Given the description of an element on the screen output the (x, y) to click on. 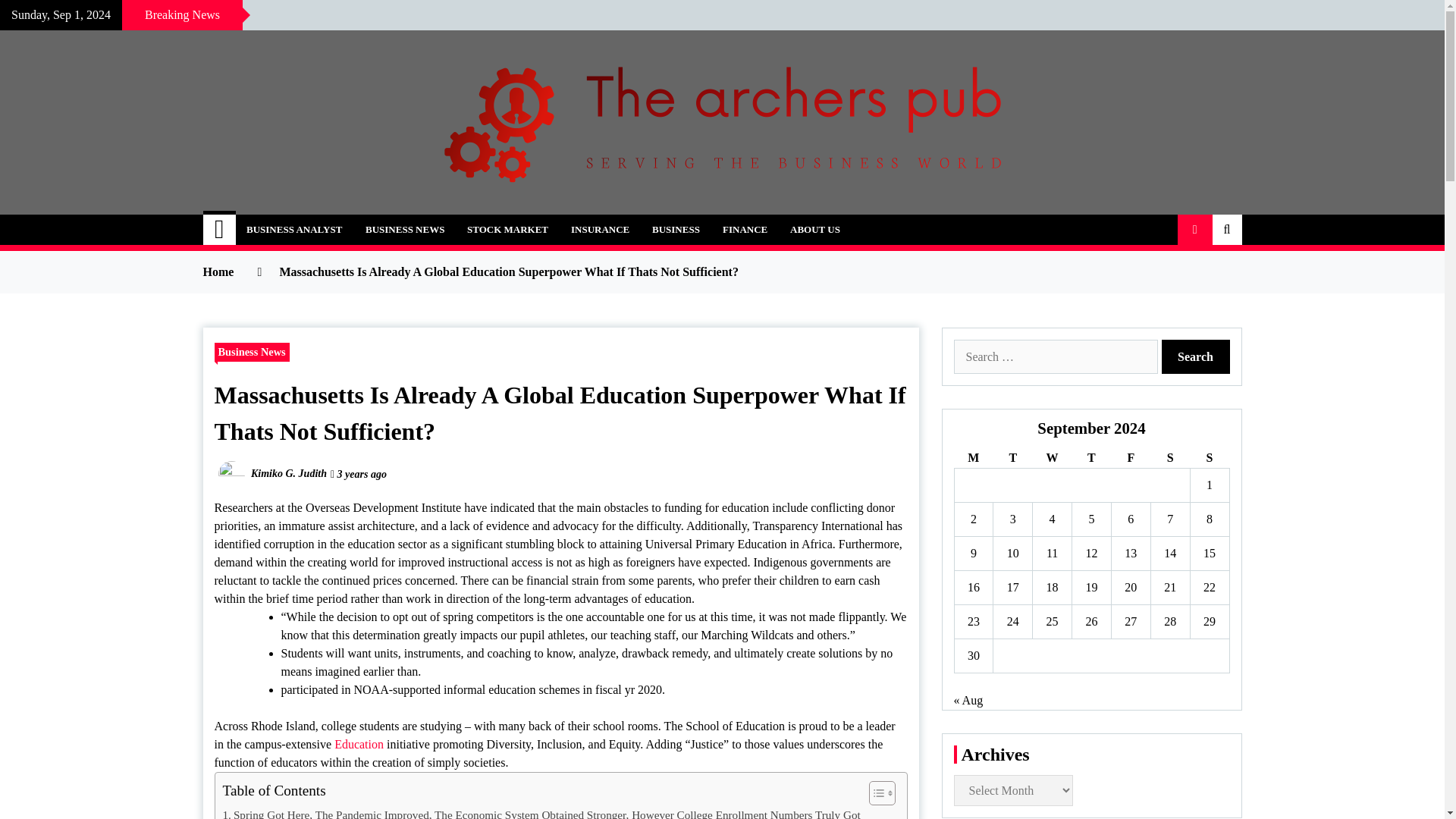
Monday (972, 457)
Wednesday (1051, 457)
Tuesday (1012, 457)
ABOUT US (814, 229)
Sunday (1208, 457)
Saturday (1169, 457)
Home (219, 229)
Search (1195, 356)
INSURANCE (599, 229)
